Given the description of an element on the screen output the (x, y) to click on. 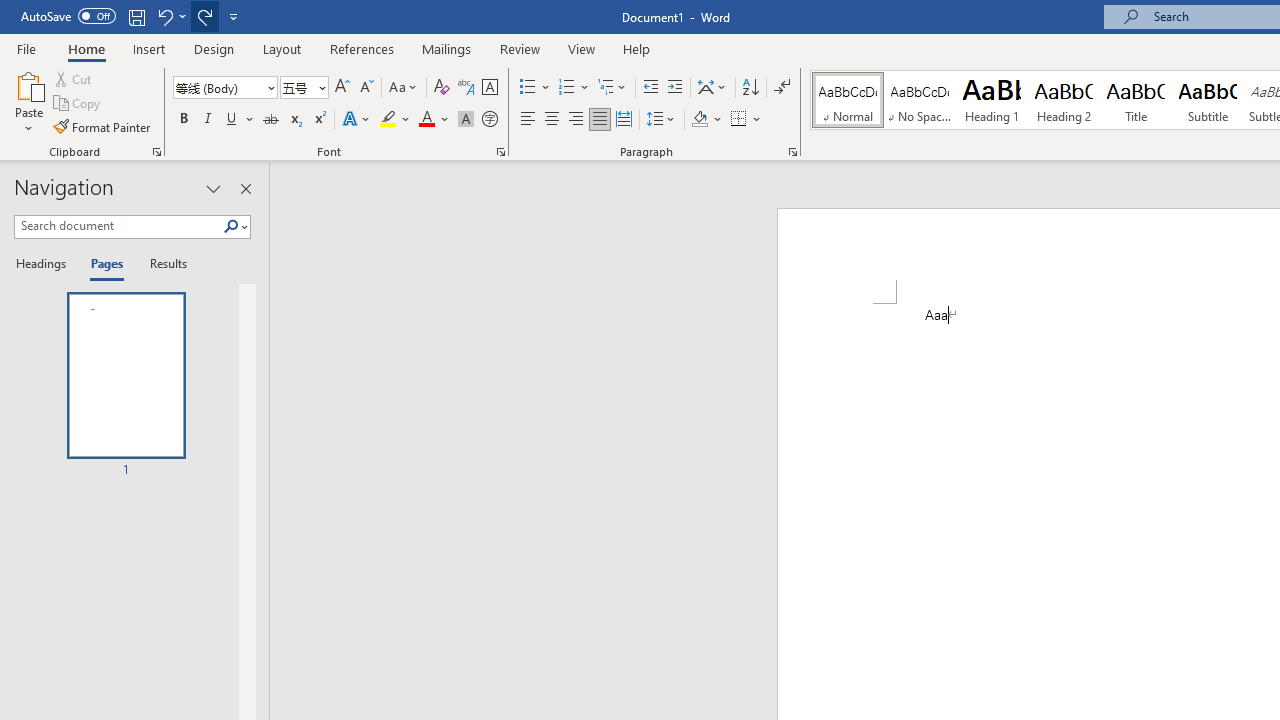
Borders (746, 119)
Redo Style (204, 15)
Character Border (489, 87)
Numbering (573, 87)
Layout (282, 48)
Asian Layout (712, 87)
Paste (28, 84)
Heading 1 (991, 100)
Font Size (304, 87)
Title (1135, 100)
Headings (45, 264)
Save (136, 15)
Text Highlight Color (395, 119)
Character Shading (465, 119)
